Given the description of an element on the screen output the (x, y) to click on. 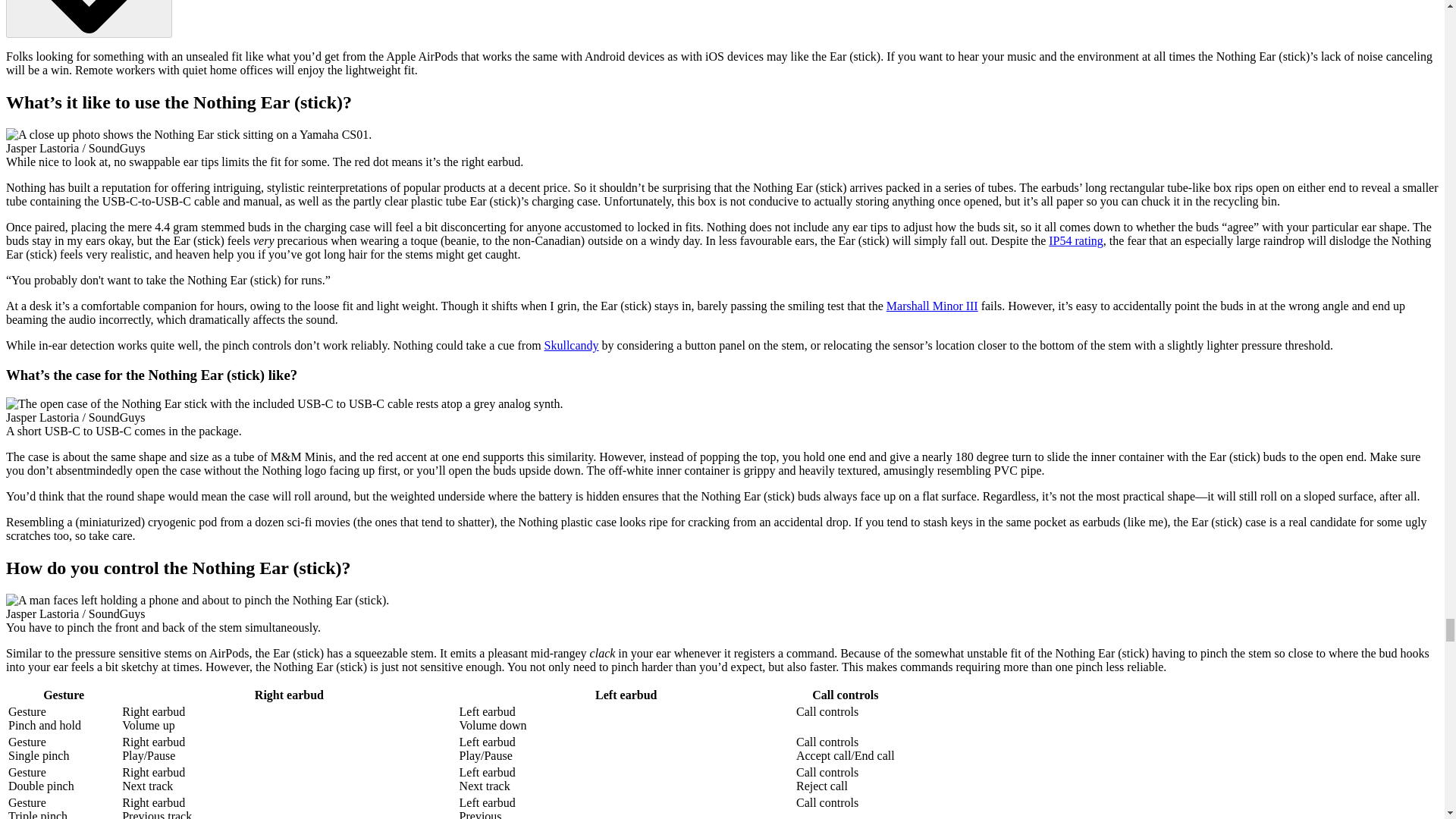
IP54 rating (1075, 240)
Marshall Minor III (932, 305)
nothing-ear-stick-in-ears (196, 600)
nothing-ear-stick-with-cable (284, 404)
Skullcandy (571, 345)
nothing-ear-stick-close-up (188, 134)
